Given the description of an element on the screen output the (x, y) to click on. 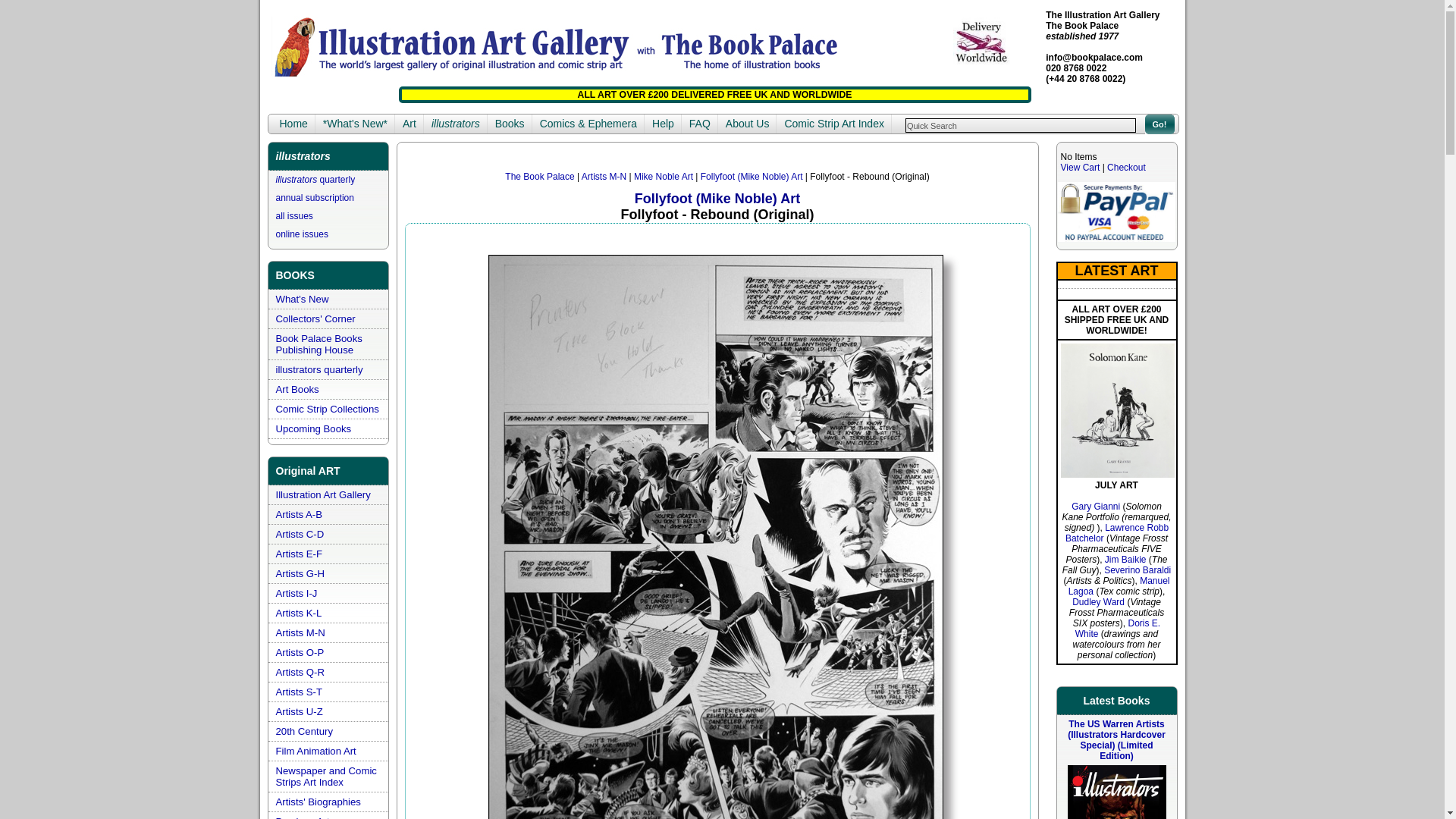
annual subscription (314, 197)
Art Books (297, 389)
illustrators quarterly (319, 369)
Help (663, 123)
What's New (302, 298)
Book Palace Books Publishing House (319, 343)
Artists K-L (298, 613)
Illustration Art Gallery (323, 494)
Illustration Books (509, 123)
we deliver everywhere! (980, 42)
illustrators (455, 123)
Home (292, 123)
Help (663, 123)
20th Century (304, 731)
illustrators quarterly (315, 179)
